Given the description of an element on the screen output the (x, y) to click on. 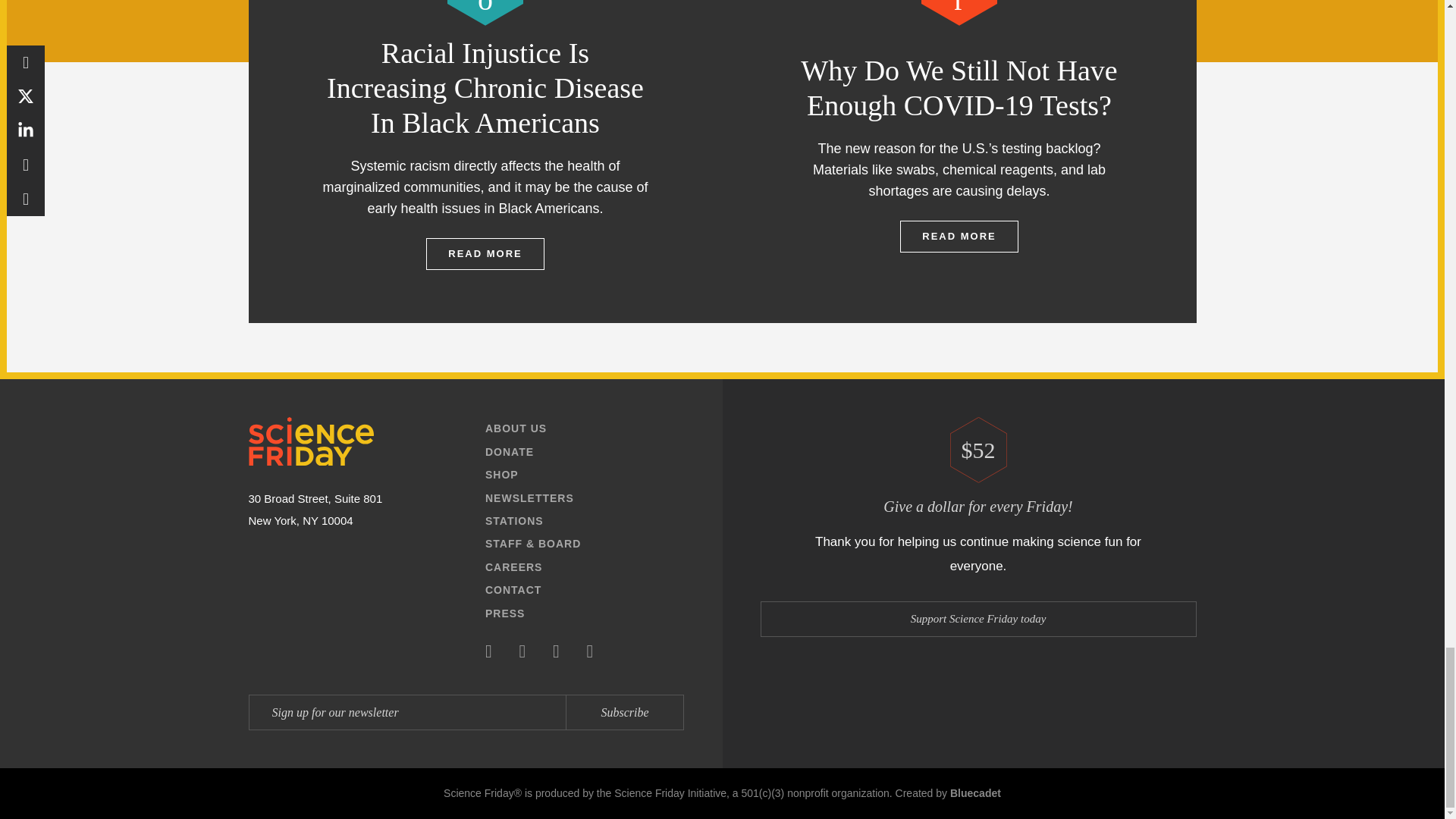
Subscribe (624, 712)
